Given the description of an element on the screen output the (x, y) to click on. 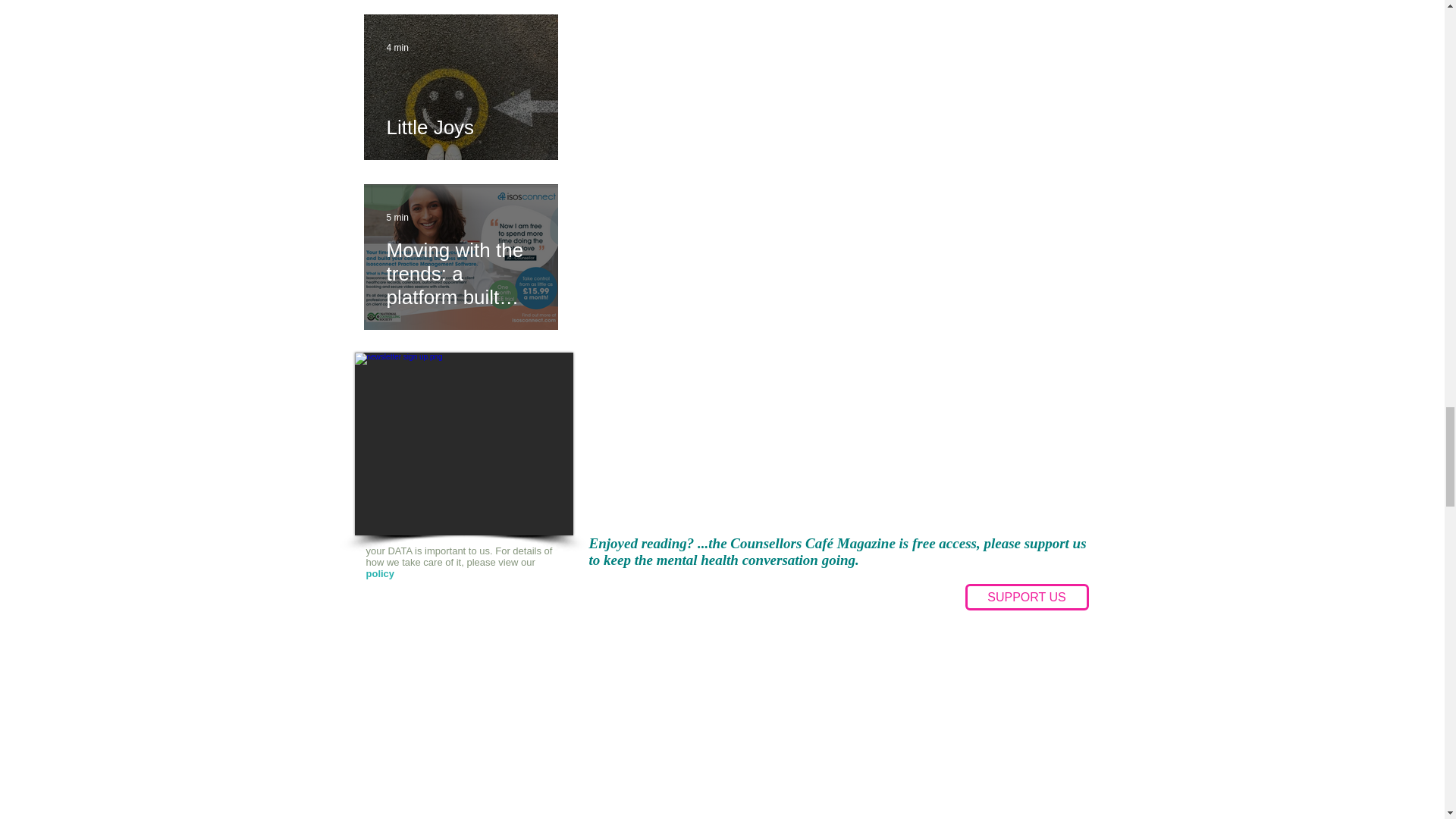
5 min (398, 217)
4 min (398, 47)
